Given the description of an element on the screen output the (x, y) to click on. 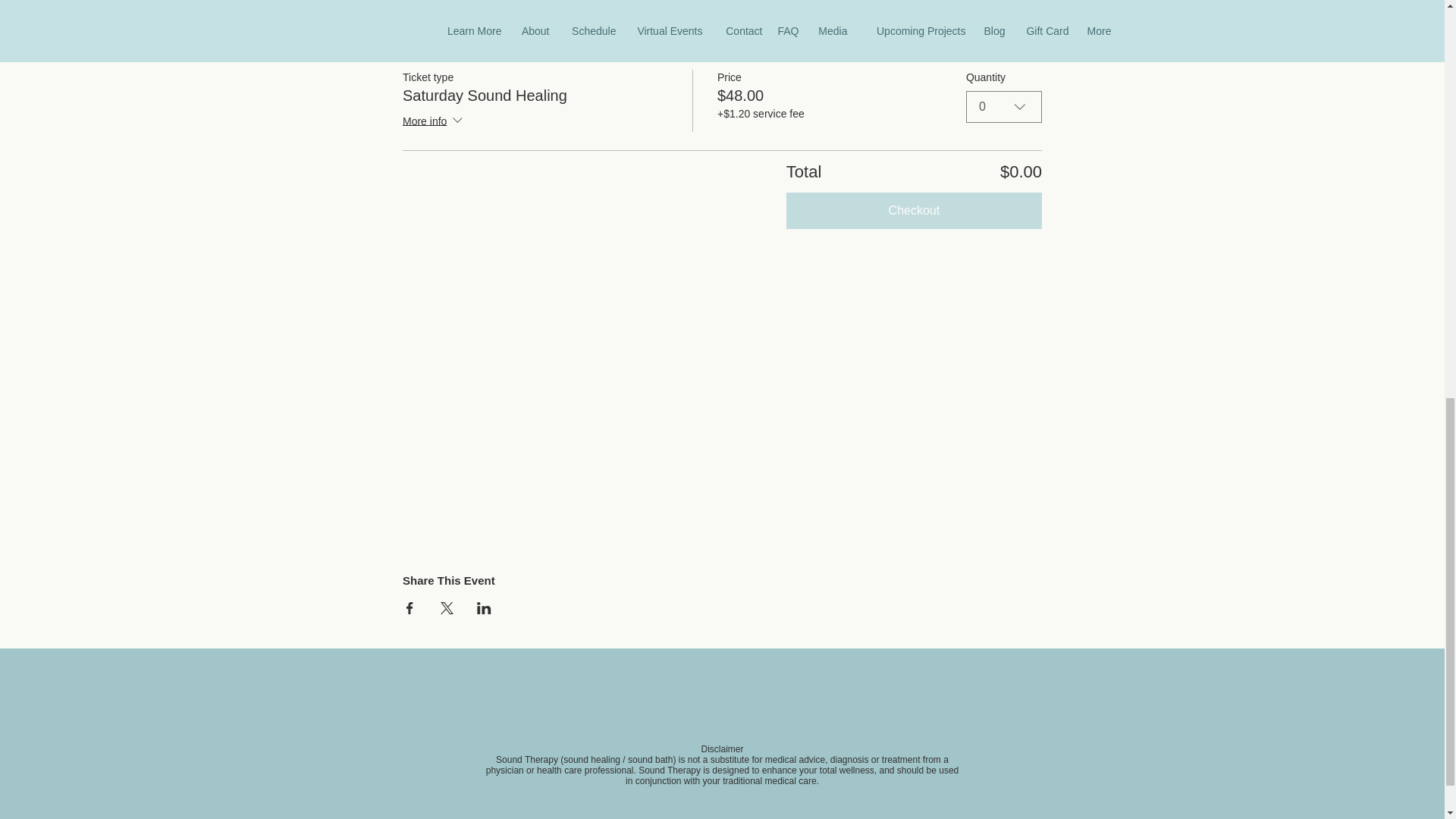
Checkout (914, 210)
0 (1004, 106)
More info (434, 121)
